Given the description of an element on the screen output the (x, y) to click on. 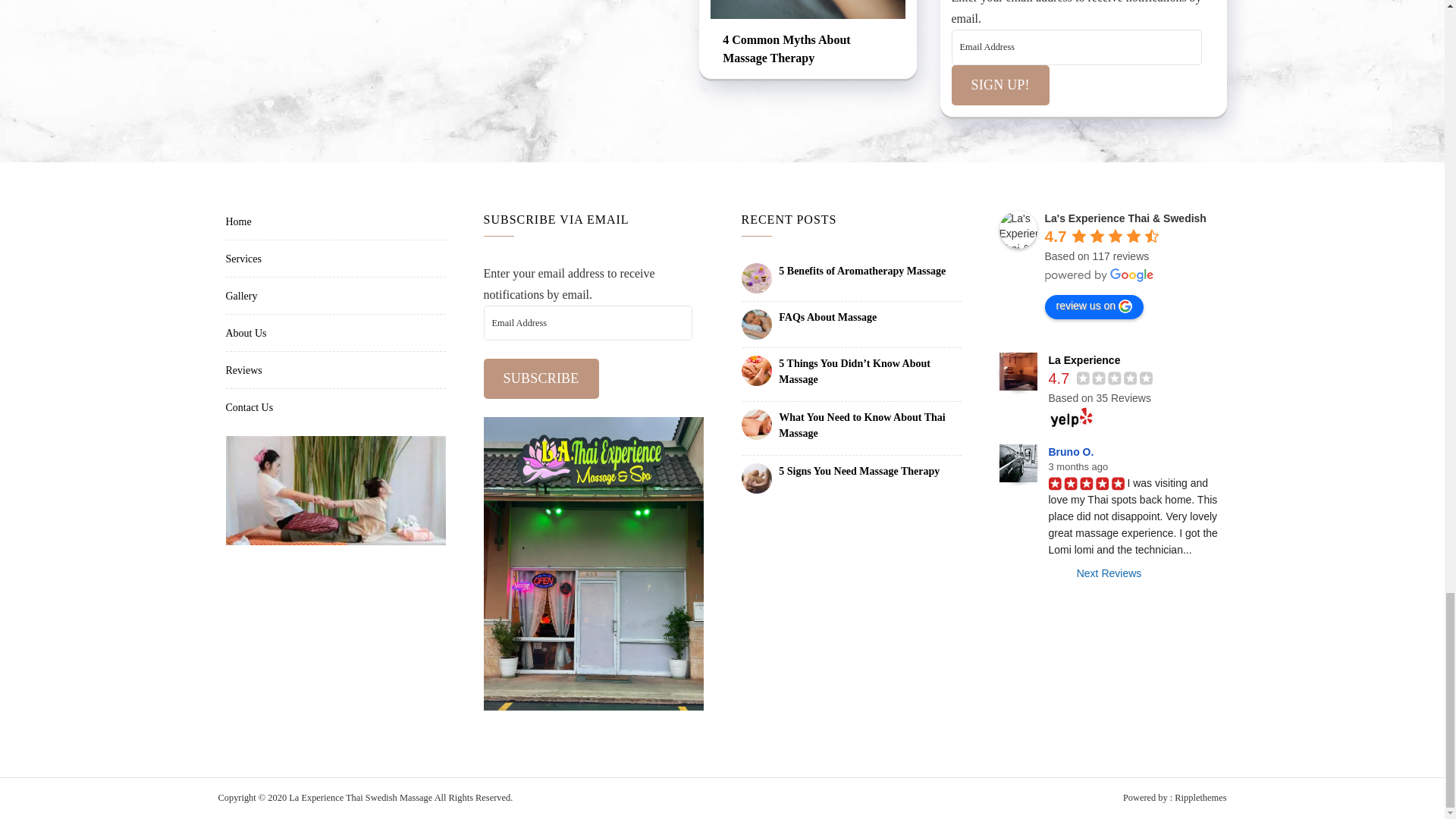
Contact Us (249, 407)
Yelp logo (1070, 417)
powered by Google (1099, 274)
About Us (245, 333)
Home (238, 221)
FAQs About Massage (869, 318)
La Experience (1017, 371)
Gallery (241, 296)
4 Common Myths About Massage Therapy (807, 50)
SUBSCRIBE (540, 378)
Services (243, 258)
Reviews (243, 369)
5 Benefits of Aromatherapy Massage (869, 272)
Bruno O. (1017, 463)
